Given the description of an element on the screen output the (x, y) to click on. 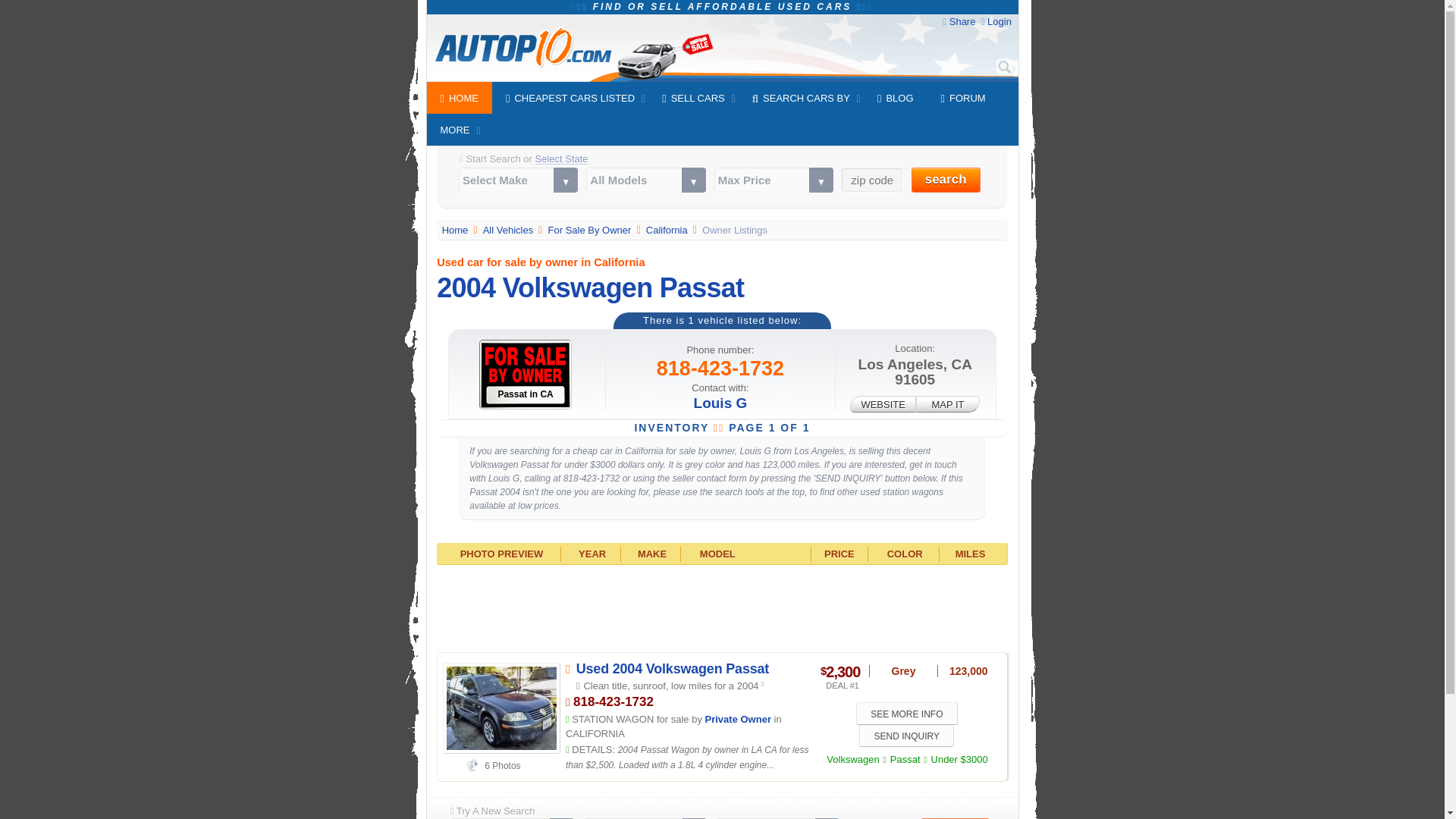
SEE MORE INFO (907, 712)
search (945, 179)
Browse the entire listing of cars for sale (509, 229)
Passat (904, 758)
Used 2004 Volkswagen Passat (672, 668)
Search (1004, 66)
Share (962, 21)
SEND INQUIRY (906, 735)
This link is disabled (882, 403)
For Sale By Owner (590, 229)
